Given the description of an element on the screen output the (x, y) to click on. 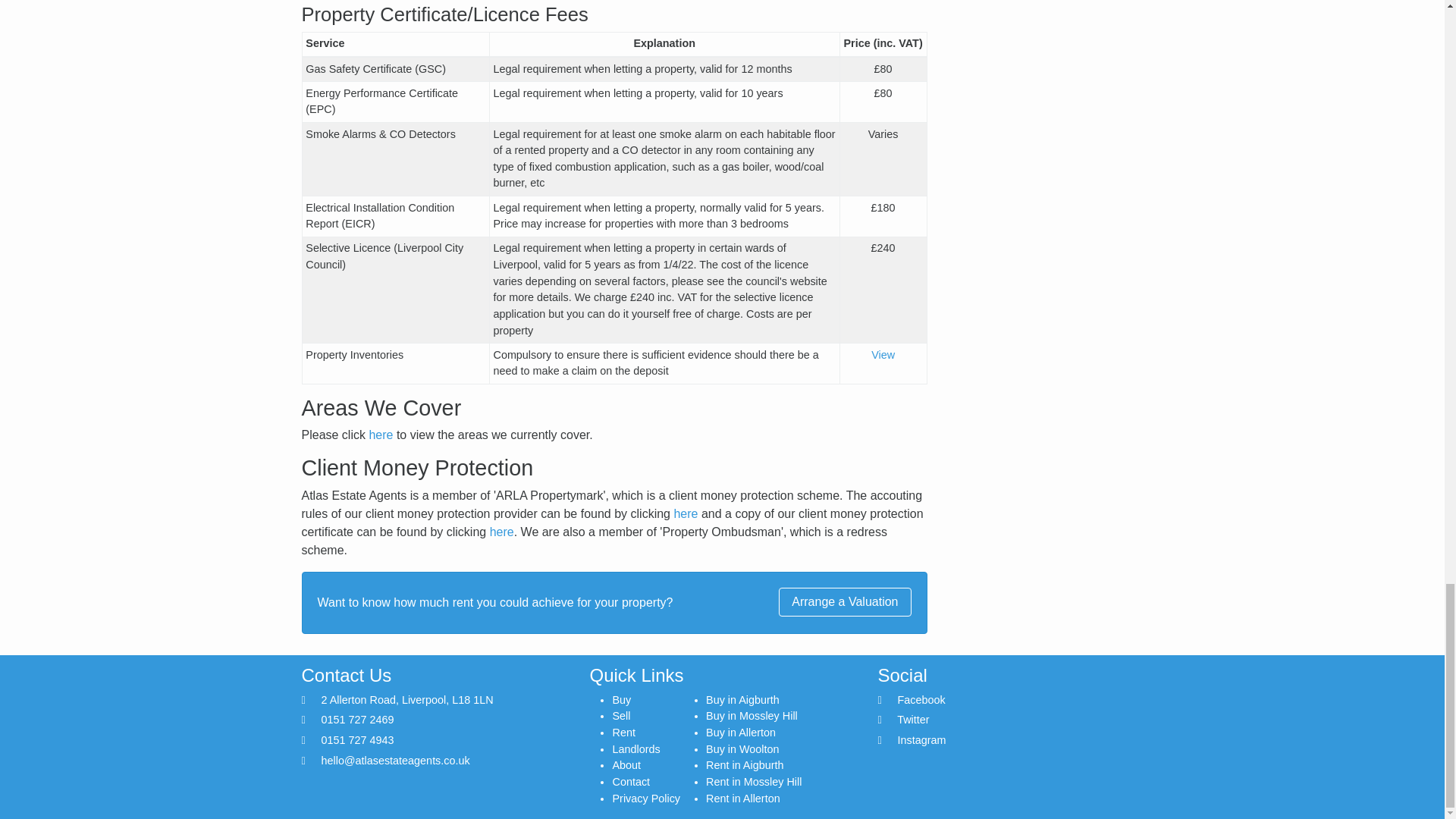
Arrange a Valuation (844, 602)
Landlords (635, 748)
0151 727 2469 (357, 719)
Rent (622, 732)
View (882, 354)
Buy in Mossley Hill (751, 715)
About (625, 765)
Privacy Policy (645, 798)
Buy (620, 699)
here (501, 531)
0151 727 4943 (357, 739)
here (380, 434)
Sell (620, 715)
here (684, 513)
Contact (630, 781)
